Given the description of an element on the screen output the (x, y) to click on. 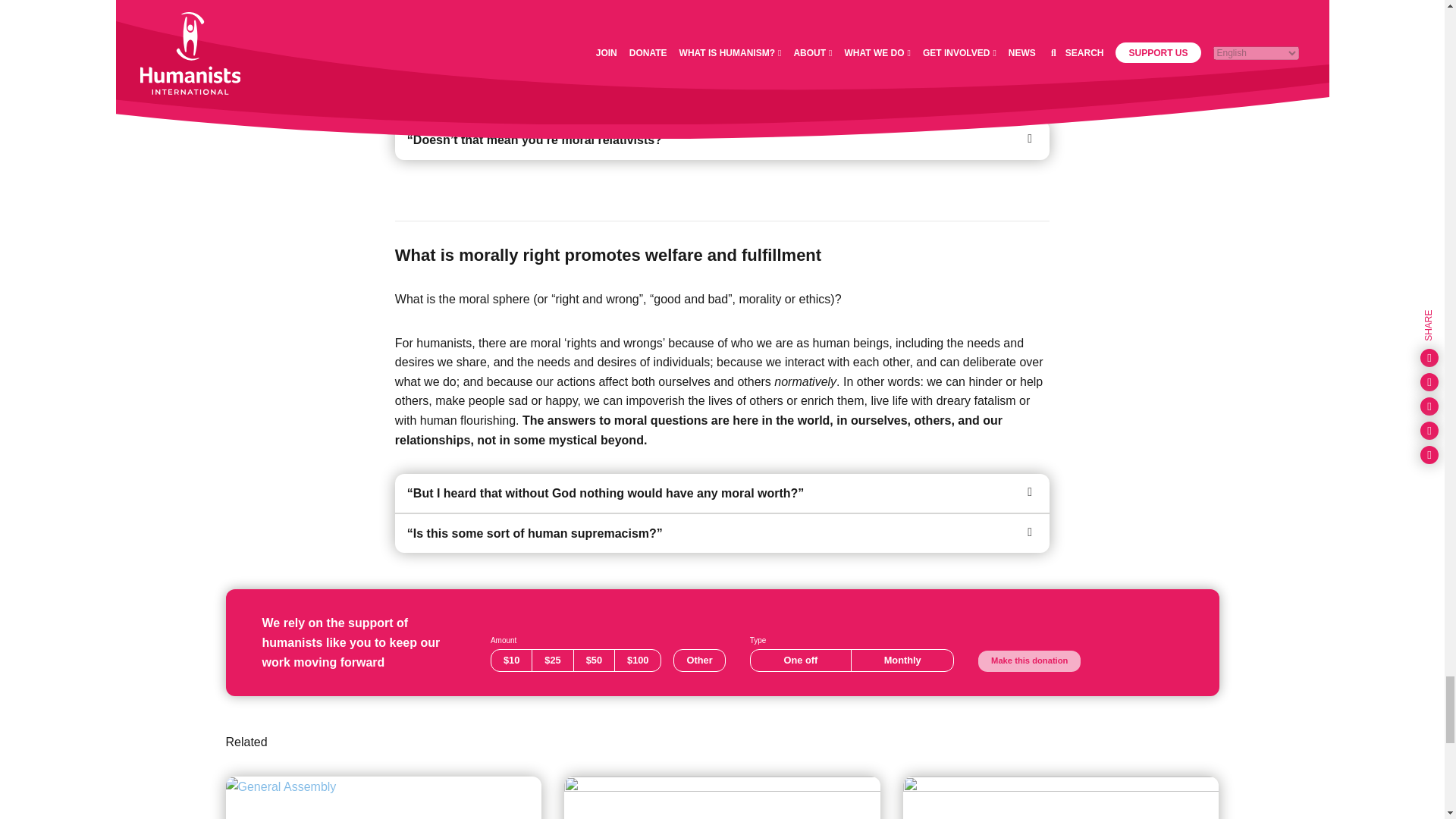
Make this donation (1029, 660)
 Humanism: FAQs (722, 797)
 Policies (1061, 797)
 About (383, 797)
